Given the description of an element on the screen output the (x, y) to click on. 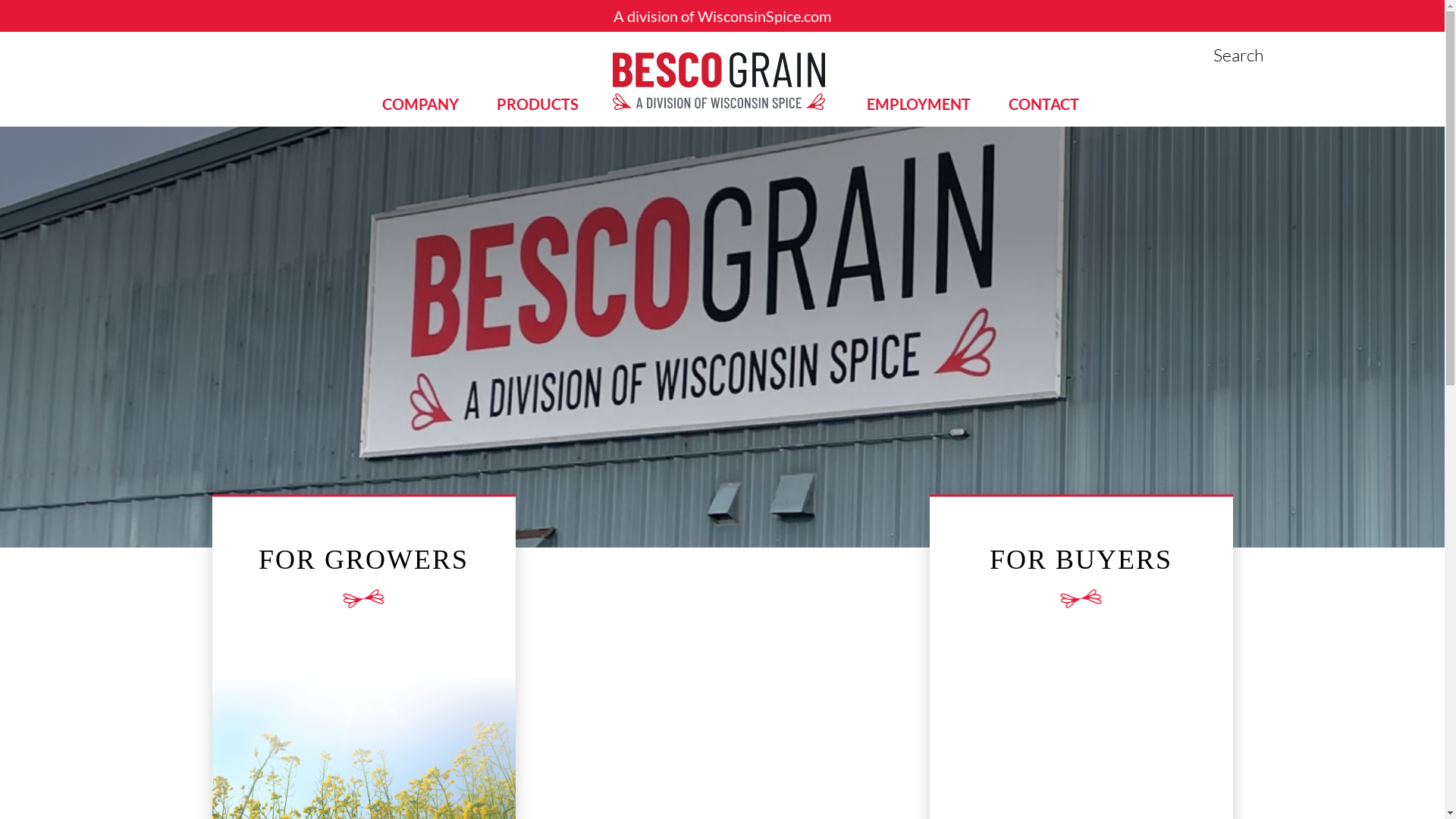
PRODUCTS Element type: text (537, 103)
COMPANY Element type: text (419, 103)
Search Element type: text (1237, 54)
A division of WisconsinSpice.com Element type: text (722, 15)
CONTACT Element type: text (1042, 103)
EMPLOYMENT Element type: text (918, 103)
